Given the description of an element on the screen output the (x, y) to click on. 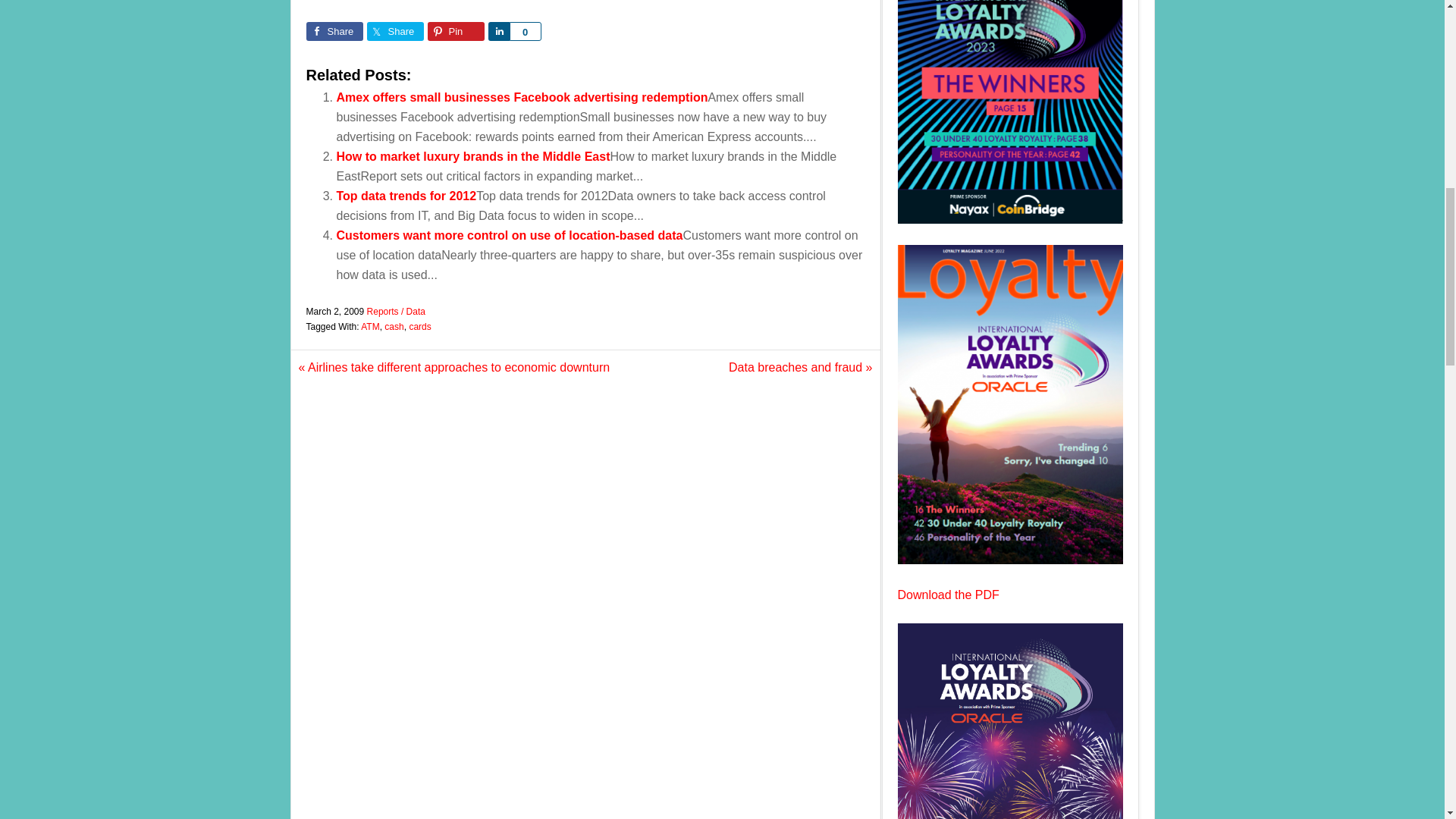
Top data trends for 2012 (406, 195)
Amex offers small businesses Facebook advertising redemption (521, 97)
How to market luxury brands in the Middle East (473, 155)
Customers want more control on use of location-based data (509, 235)
